Given the description of an element on the screen output the (x, y) to click on. 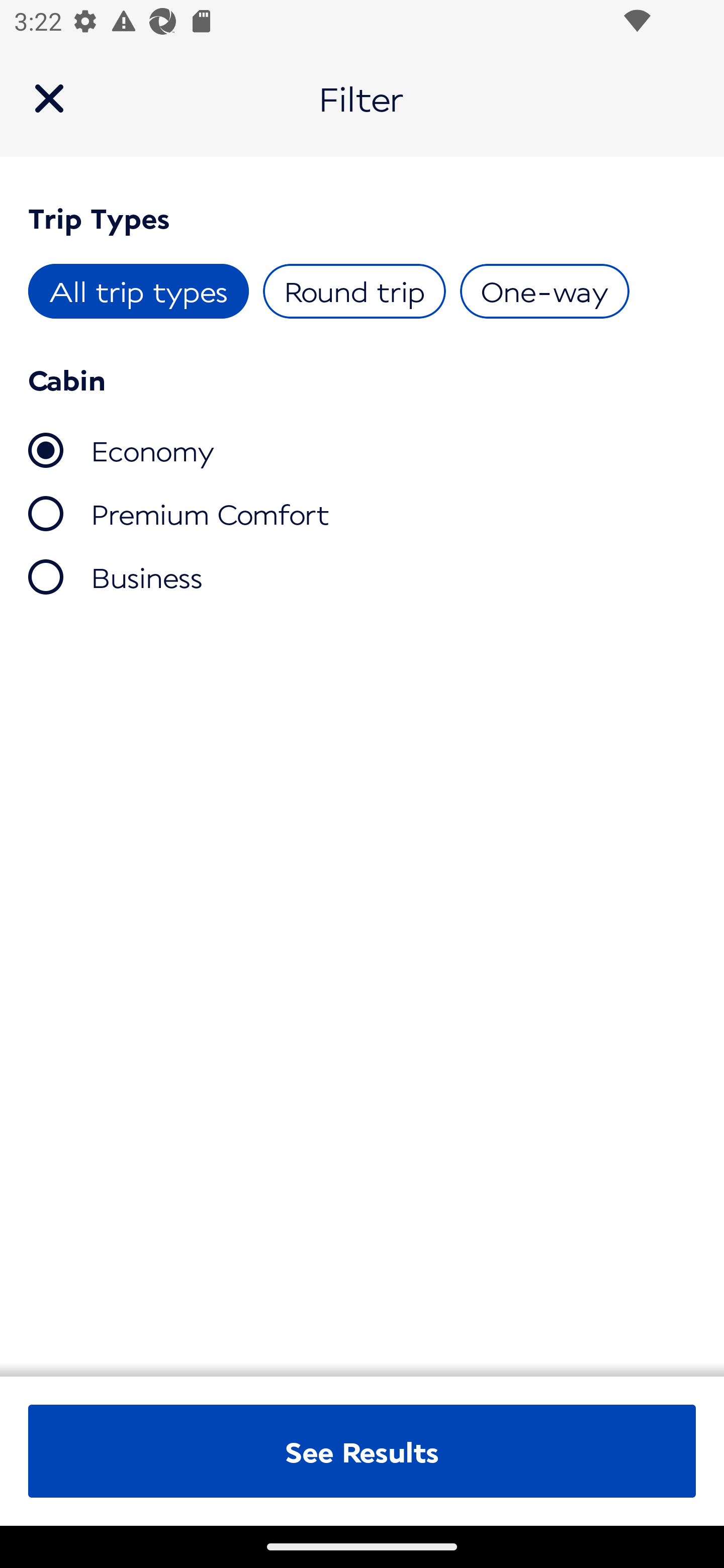
All trip types (138, 291)
Round trip (353, 291)
One-way (544, 291)
See Results (361, 1450)
